Given the description of an element on the screen output the (x, y) to click on. 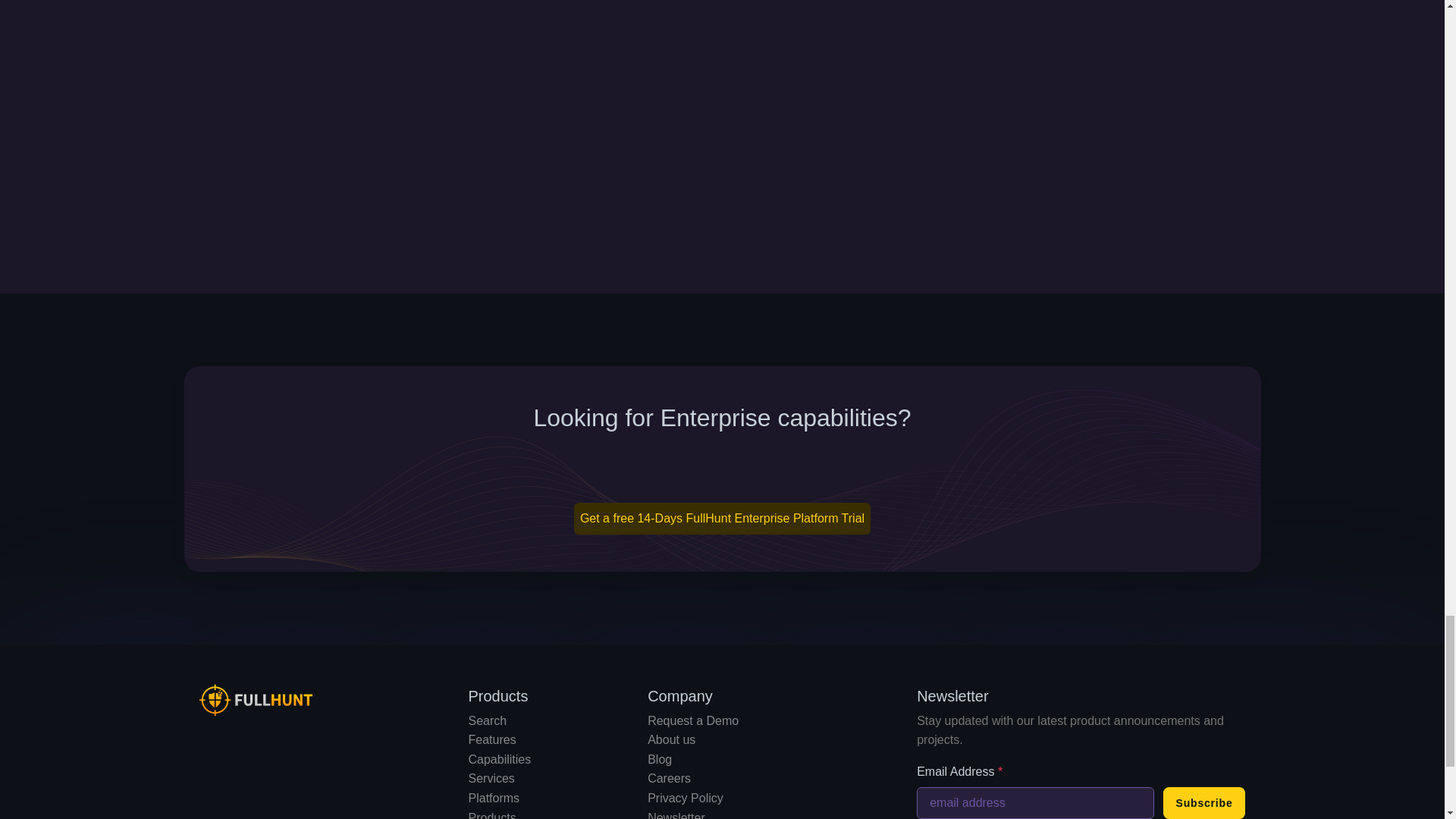
Services (491, 778)
Products (492, 815)
Get a free 14-Days FullHunt Enterprise Platform Trial (721, 518)
Capabilities (499, 758)
Subscribe (1204, 803)
Features (492, 739)
Platforms (493, 797)
Search (487, 720)
